Given the description of an element on the screen output the (x, y) to click on. 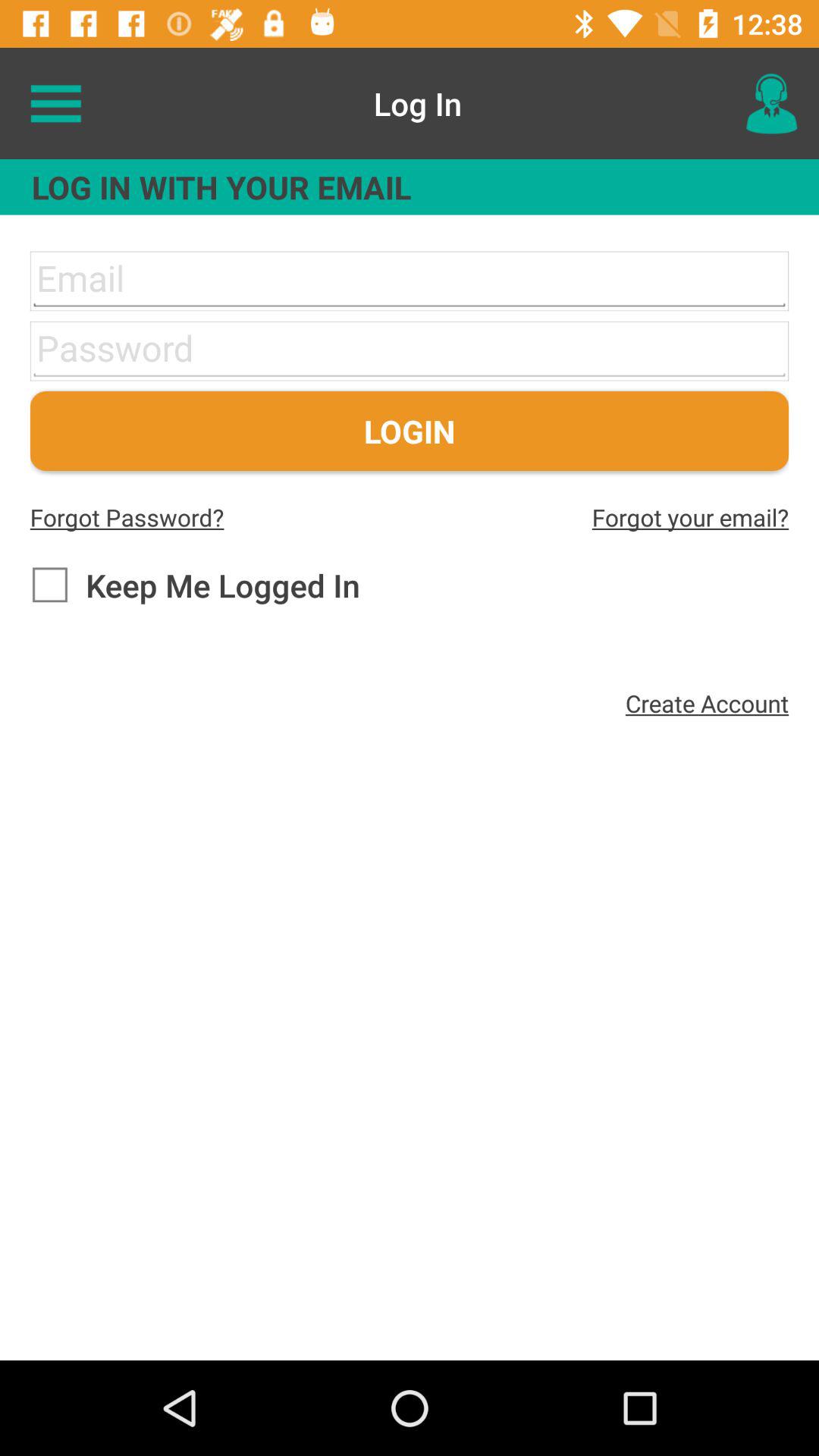
turn on the item at the top left corner (55, 103)
